Given the description of an element on the screen output the (x, y) to click on. 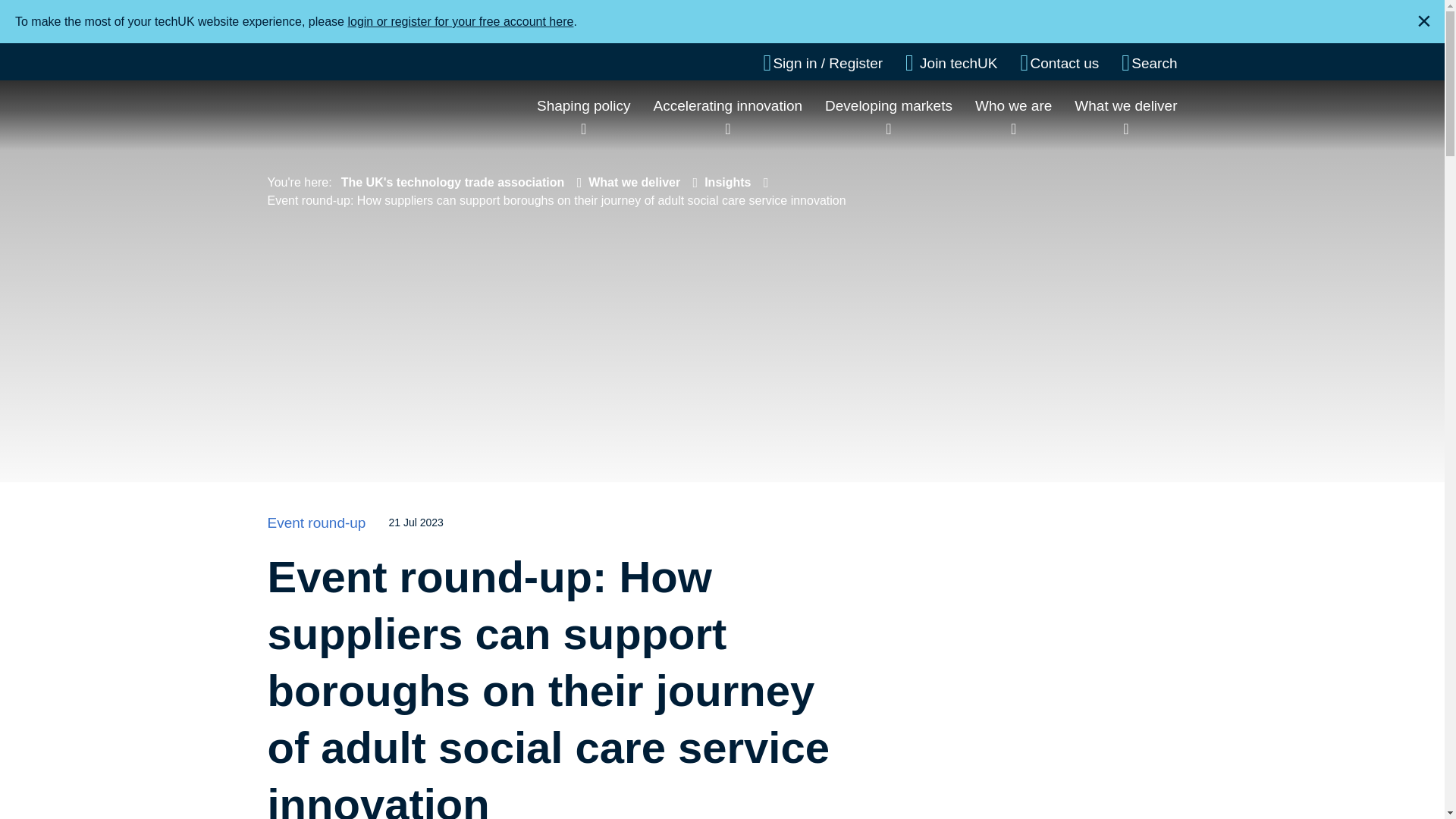
login or register for your free account here (460, 21)
Shaping policy (583, 105)
Contact us (1059, 62)
Search (1148, 62)
Join techUK (951, 62)
Accelerating innovation (727, 105)
